Given the description of an element on the screen output the (x, y) to click on. 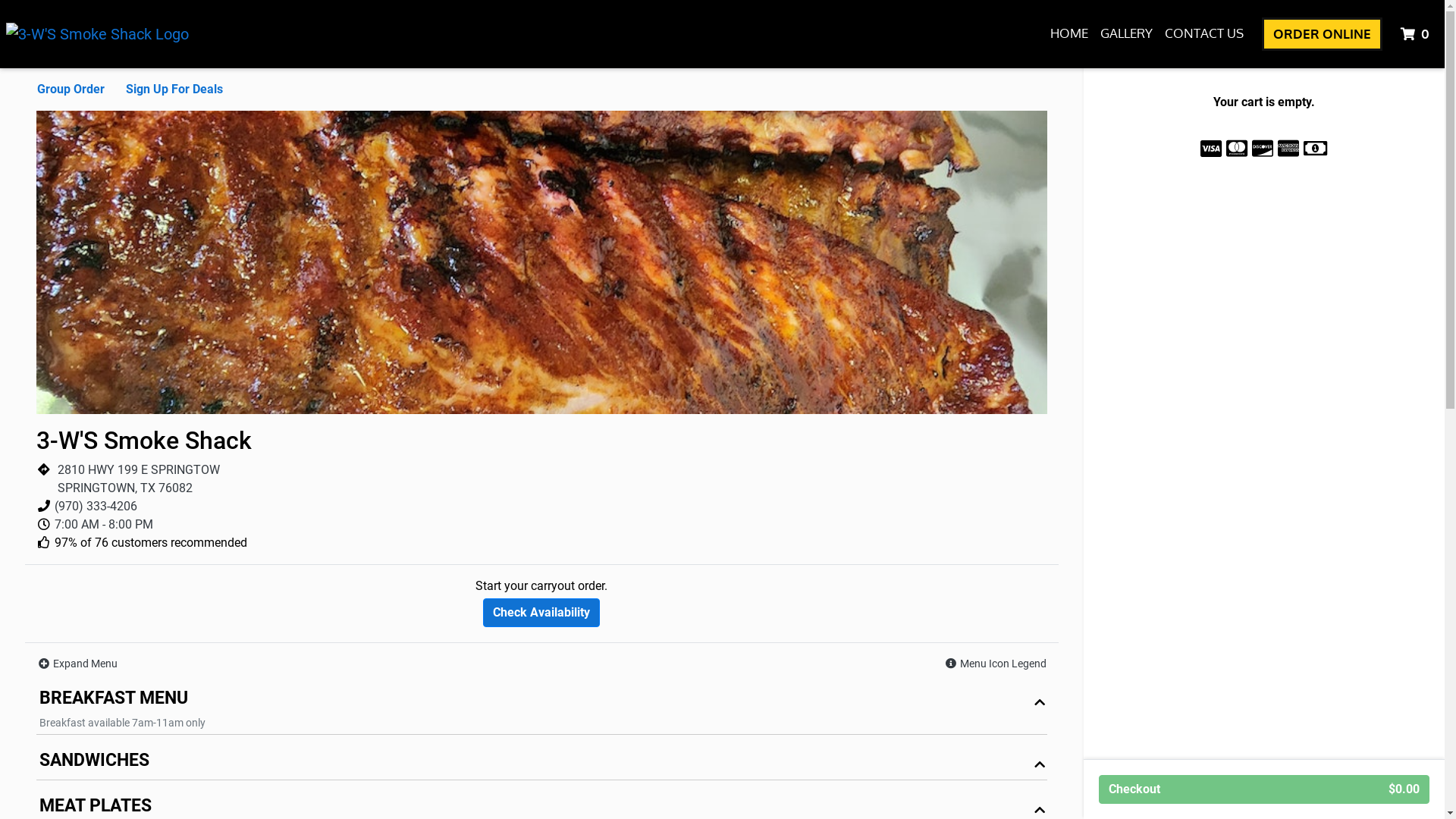
BREAKFAST MENU
Breakfast available 7am-11am only Element type: text (541, 709)
GALLERY Element type: text (1126, 33)
Expand Menu Element type: text (77, 663)
(970) 333-4206 Element type: text (95, 505)
Checkout
$0.00 Element type: text (1263, 789)
0
 ITEMS IN CART Element type: text (1416, 34)
SANDWICHES Element type: text (541, 763)
7:00 AM - 8:00 PM Element type: text (103, 524)
Accepts Visa Element type: hover (1210, 147)
Accepts Discover Element type: hover (1262, 147)
HOME Element type: text (1069, 33)
Group Order Element type: text (70, 89)
2810 HWY 199 E SPRINGTOW
SPRINGTOWN, TX 76082 Element type: text (138, 478)
Check Availability Element type: text (541, 612)
Accepts Cash Element type: hover (1315, 147)
Accepts Mastercard Element type: hover (1236, 147)
CONTACT US Element type: text (1203, 33)
Menu Icon Legend Element type: text (995, 663)
Sign Up For Deals Element type: text (173, 89)
Accepts American Express Element type: hover (1288, 147)
ORDER ONLINE Element type: text (1321, 33)
